Given the description of an element on the screen output the (x, y) to click on. 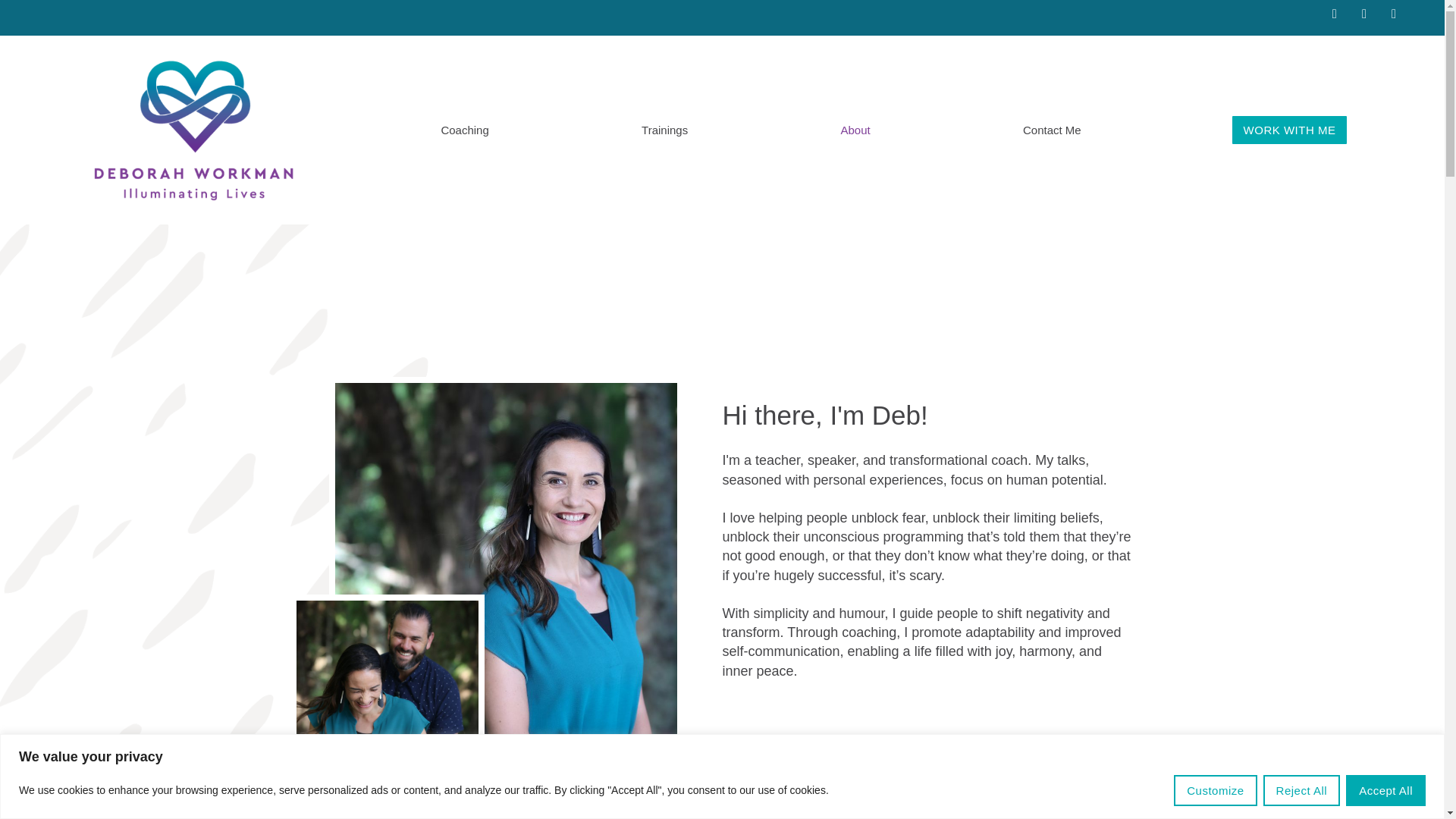
Contact Me (1051, 130)
Accept All (1385, 789)
Customize (1214, 777)
About (855, 130)
Reject All (1301, 789)
Trainings (664, 130)
LET'S CONNECT (781, 749)
Coaching (464, 130)
WORK WITH ME (1289, 130)
